Given the description of an element on the screen output the (x, y) to click on. 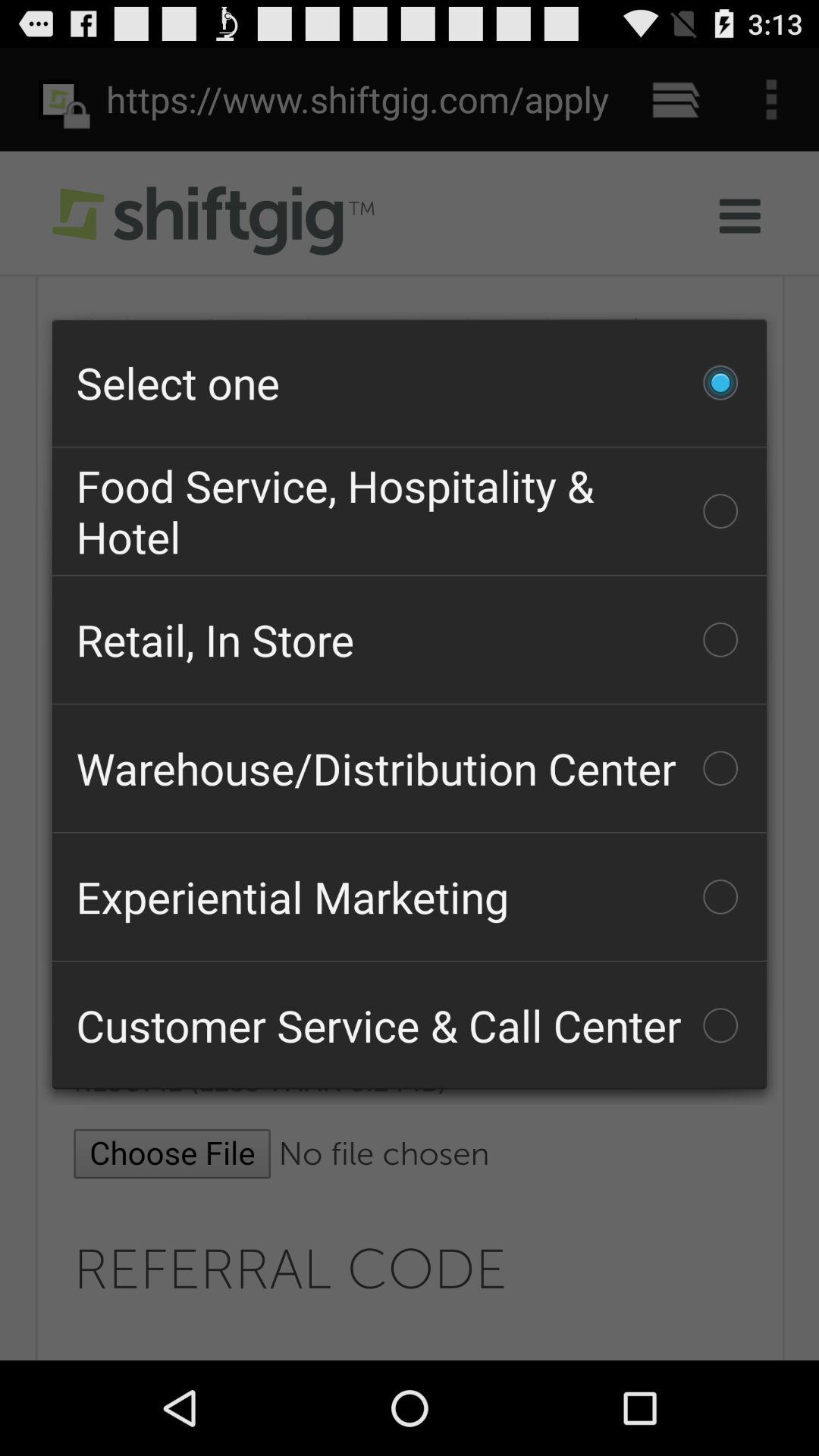
flip to retail, in store icon (409, 639)
